Given the description of an element on the screen output the (x, y) to click on. 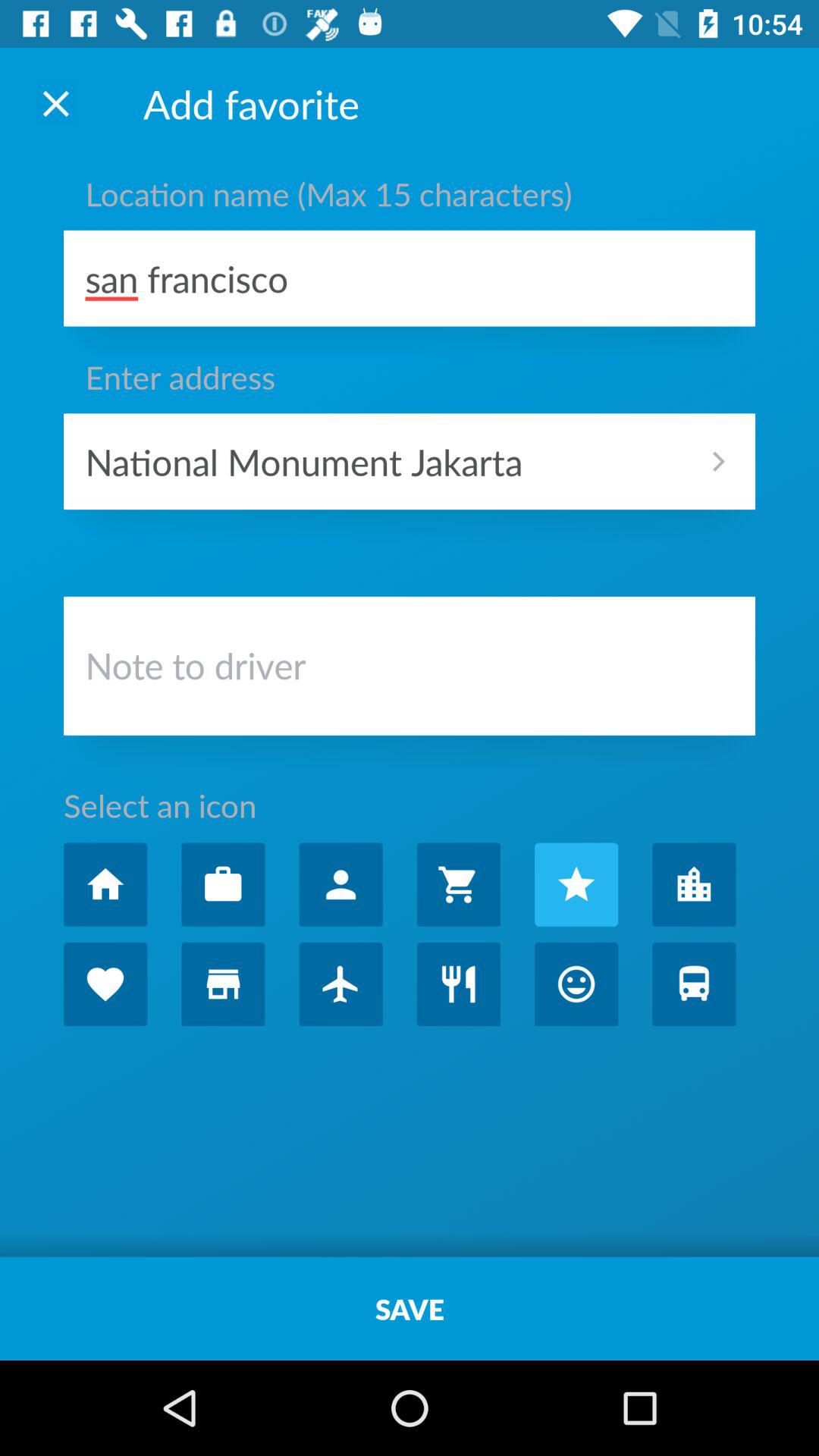
open face emojis (576, 984)
